Given the description of an element on the screen output the (x, y) to click on. 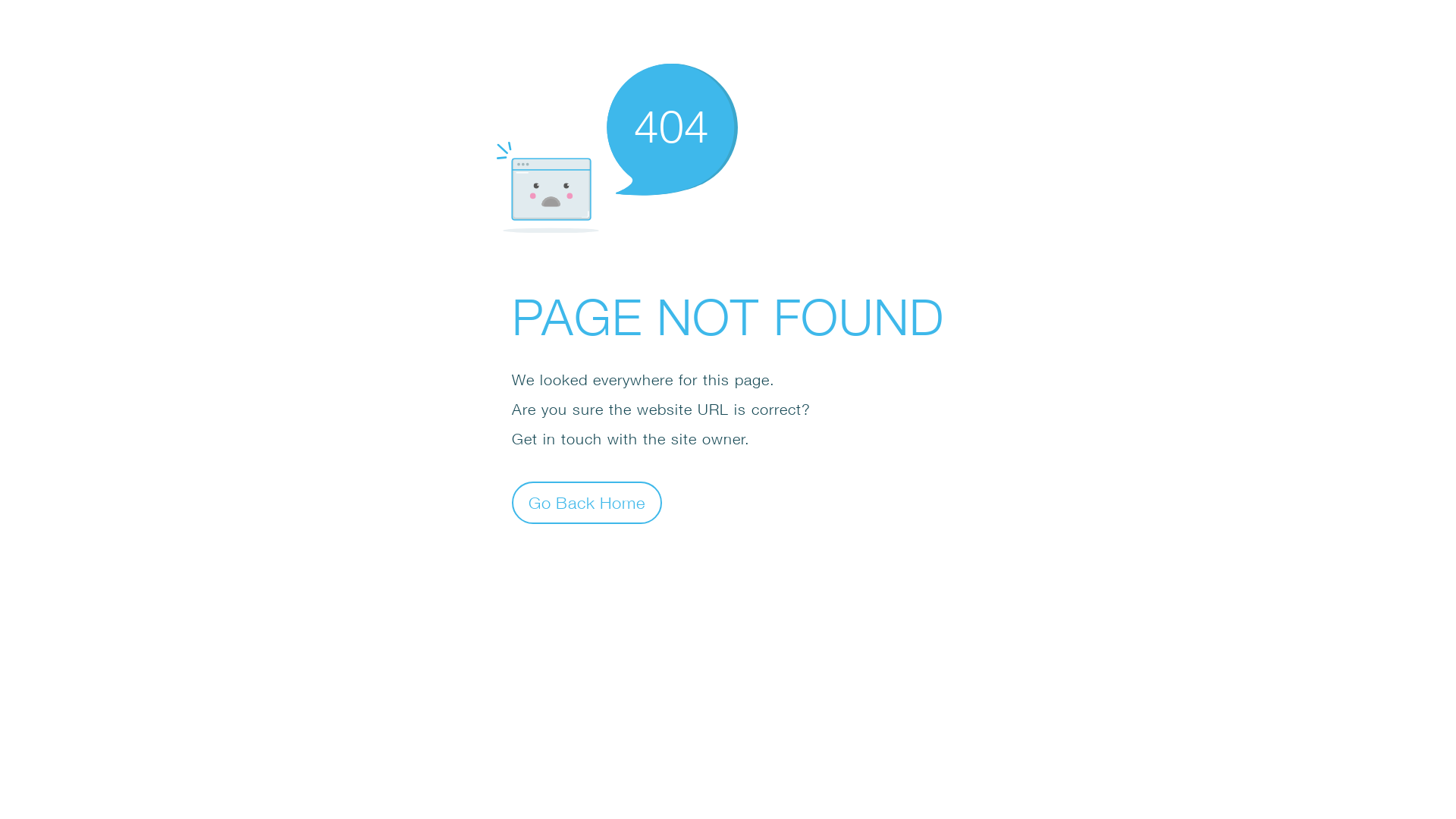
Go Back Home Element type: text (586, 502)
